Given the description of an element on the screen output the (x, y) to click on. 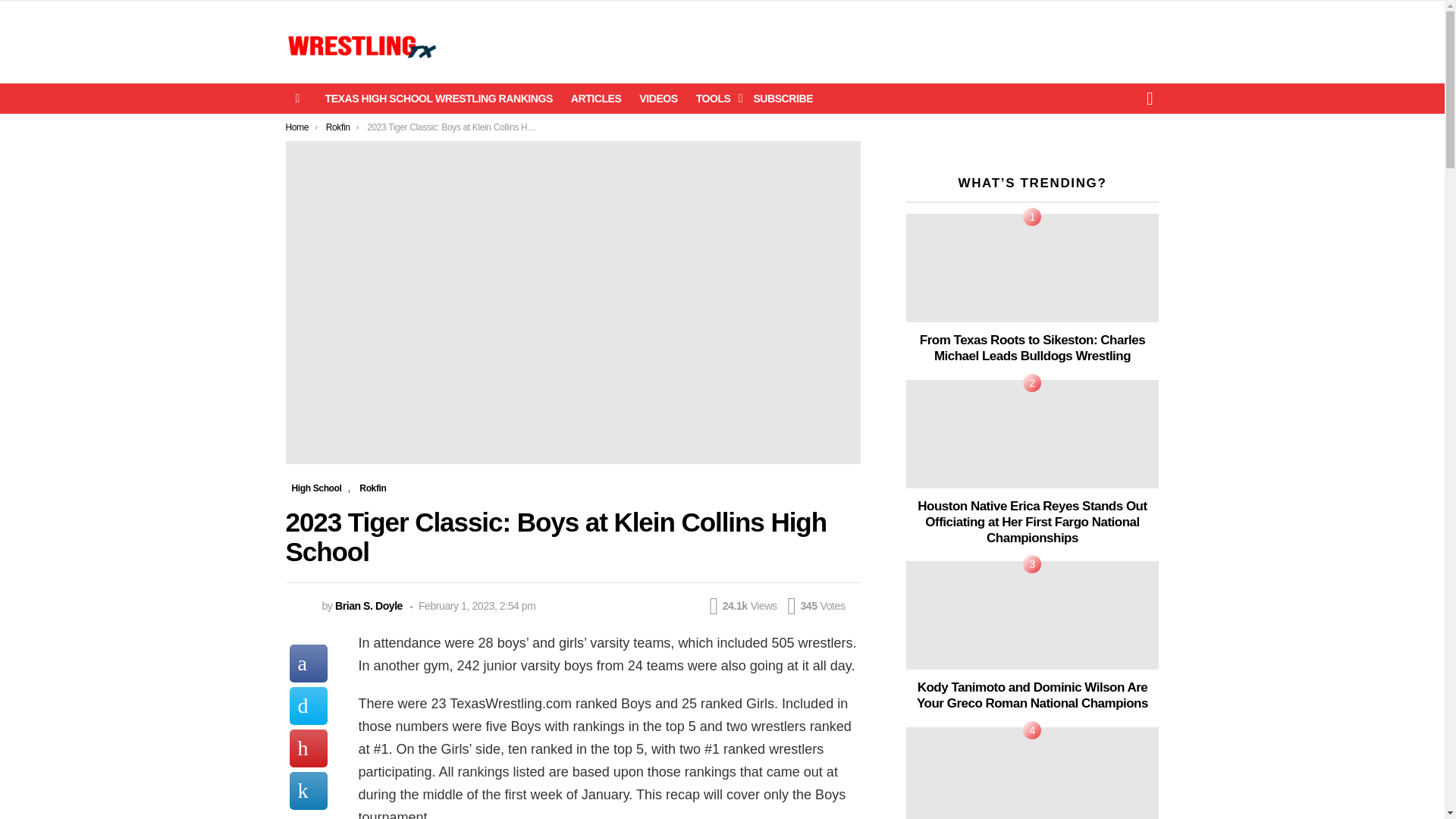
Share on LinkedIn (308, 790)
VIDEOS (657, 97)
Share on Facebook (308, 663)
Home (296, 127)
Share on Twitter (308, 705)
ARTICLES (595, 97)
Share on Pinterest (308, 748)
Rokfin (338, 127)
Rokfin (372, 488)
TOOLS (715, 97)
High School (316, 488)
Brian S. Doyle (368, 605)
TEXAS HIGH SCHOOL WRESTLING RANKINGS (438, 97)
SUBSCRIBE (783, 97)
SEARCH (1149, 98)
